Given the description of an element on the screen output the (x, y) to click on. 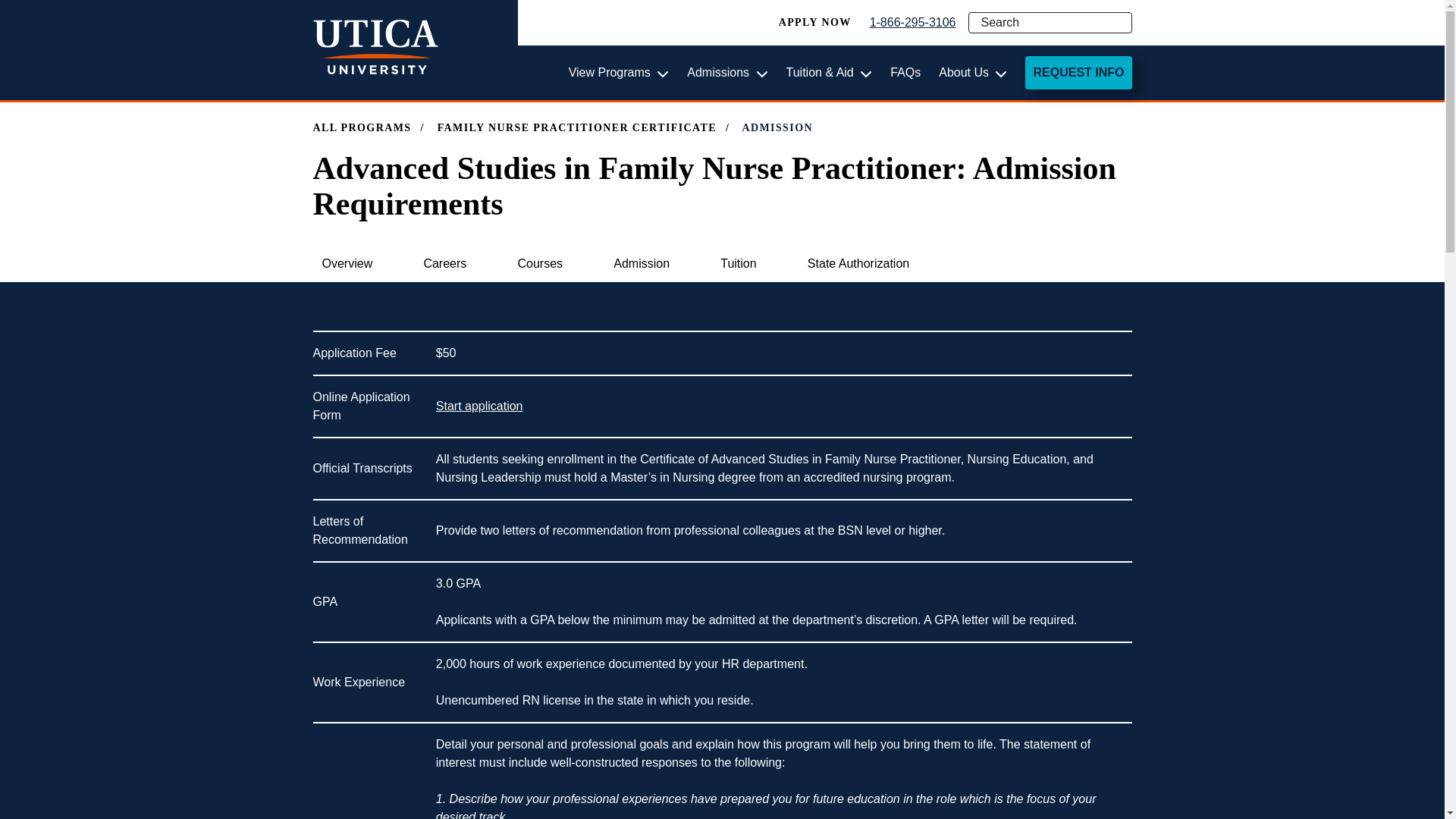
About Us (973, 72)
APPLY NOW (814, 22)
REQUEST INFO (1078, 72)
View Programs (619, 72)
Overview (347, 263)
Utica University (375, 47)
submit search (1121, 22)
FAMILY NURSE PRACTITIONER CERTIFICATE (577, 127)
Admissions (727, 72)
submit search (1121, 22)
